Given the description of an element on the screen output the (x, y) to click on. 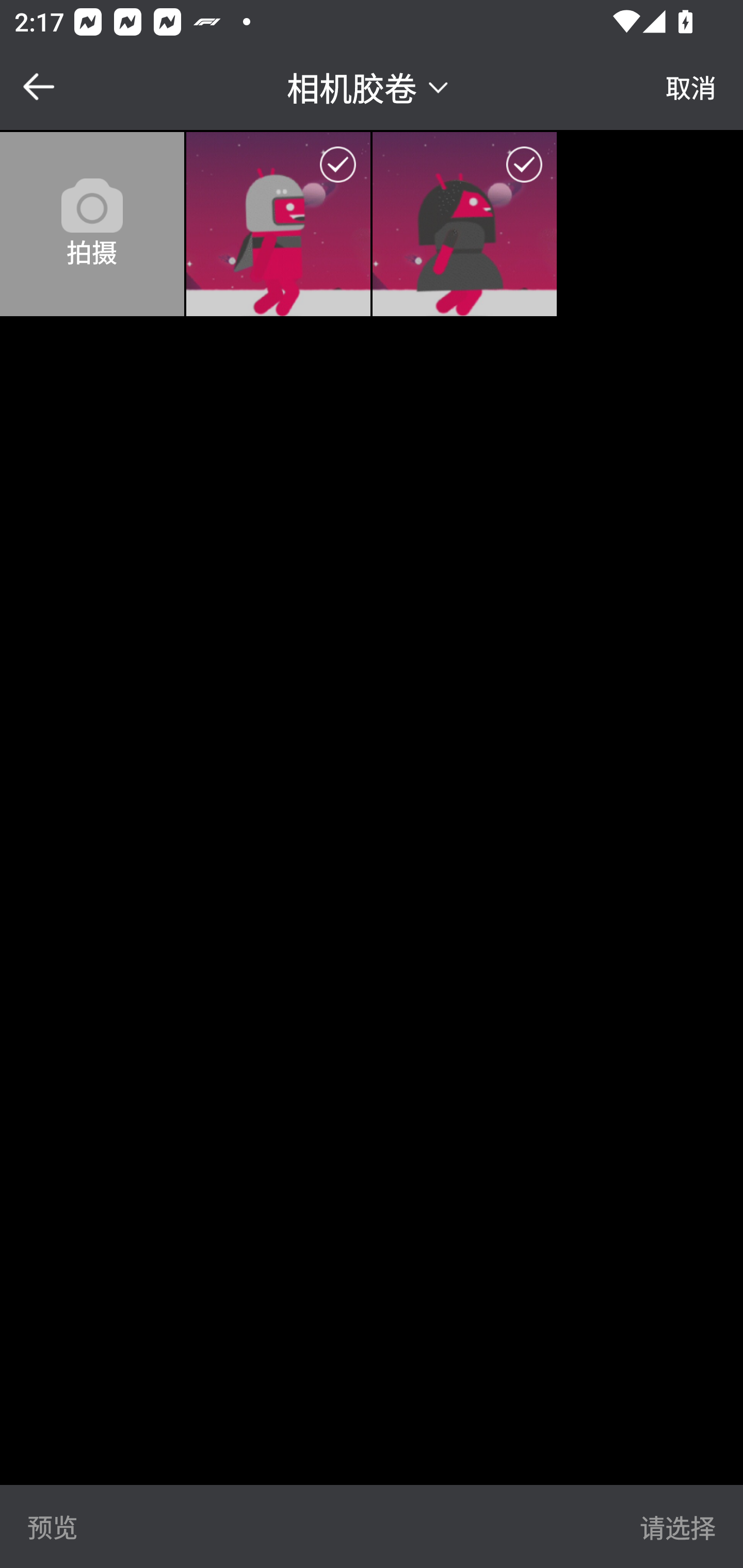
取消 (690, 86)
相机胶卷 (370, 85)
拍摄 (92, 223)
预览 (52, 1526)
请选择 (677, 1526)
